Given the description of an element on the screen output the (x, y) to click on. 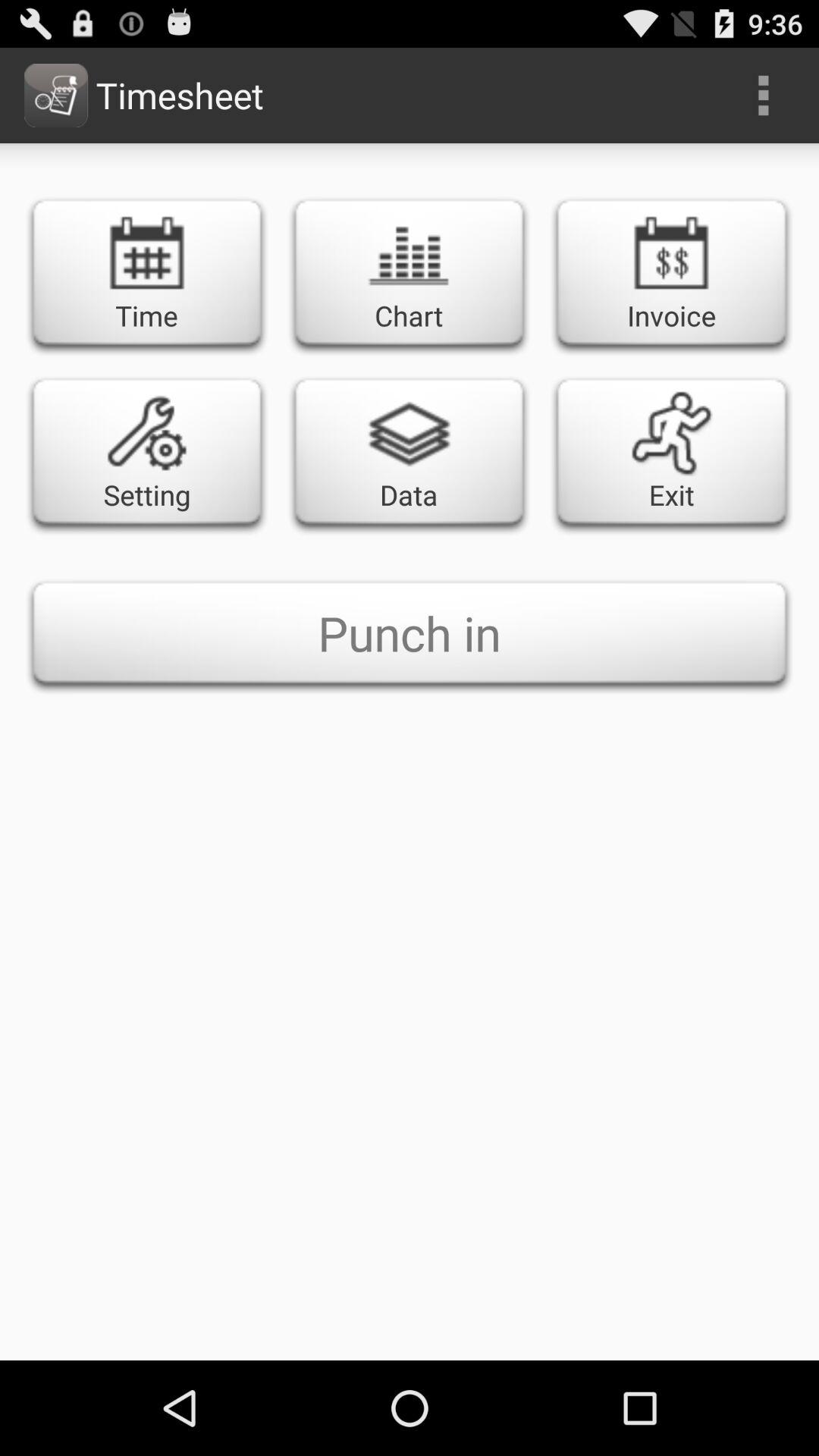
press app next to timesheet (763, 95)
